Given the description of an element on the screen output the (x, y) to click on. 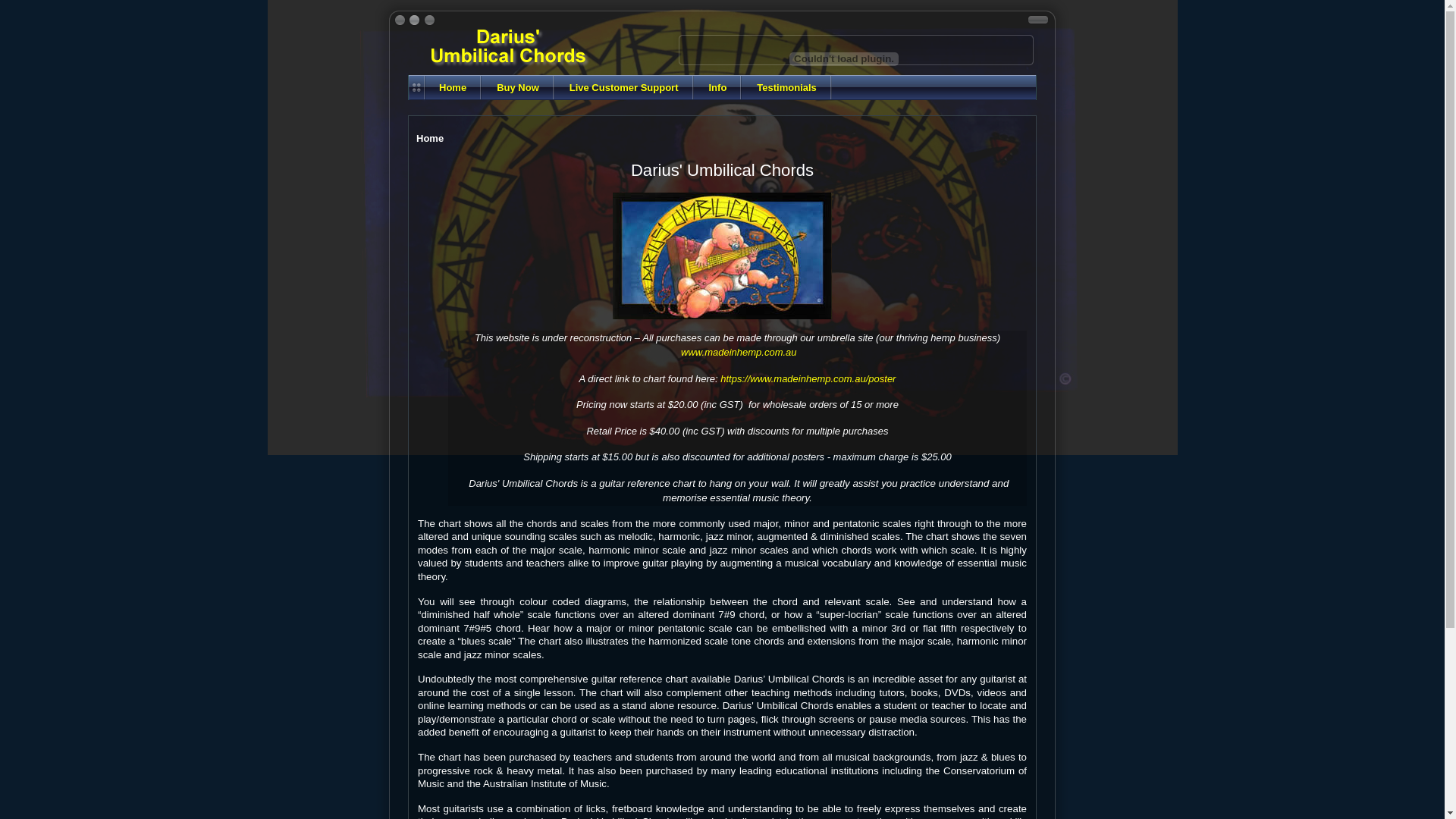
Home Element type: text (452, 87)
Testimonials Element type: text (786, 87)
Live Customer Support Element type: text (623, 87)
https://www.madeinhemp.com.au/poster Element type: text (807, 378)
www.madeinhemp.com.au Element type: text (738, 351)
Info Element type: text (717, 87)
Buy Now Element type: text (517, 87)
